Given the description of an element on the screen output the (x, y) to click on. 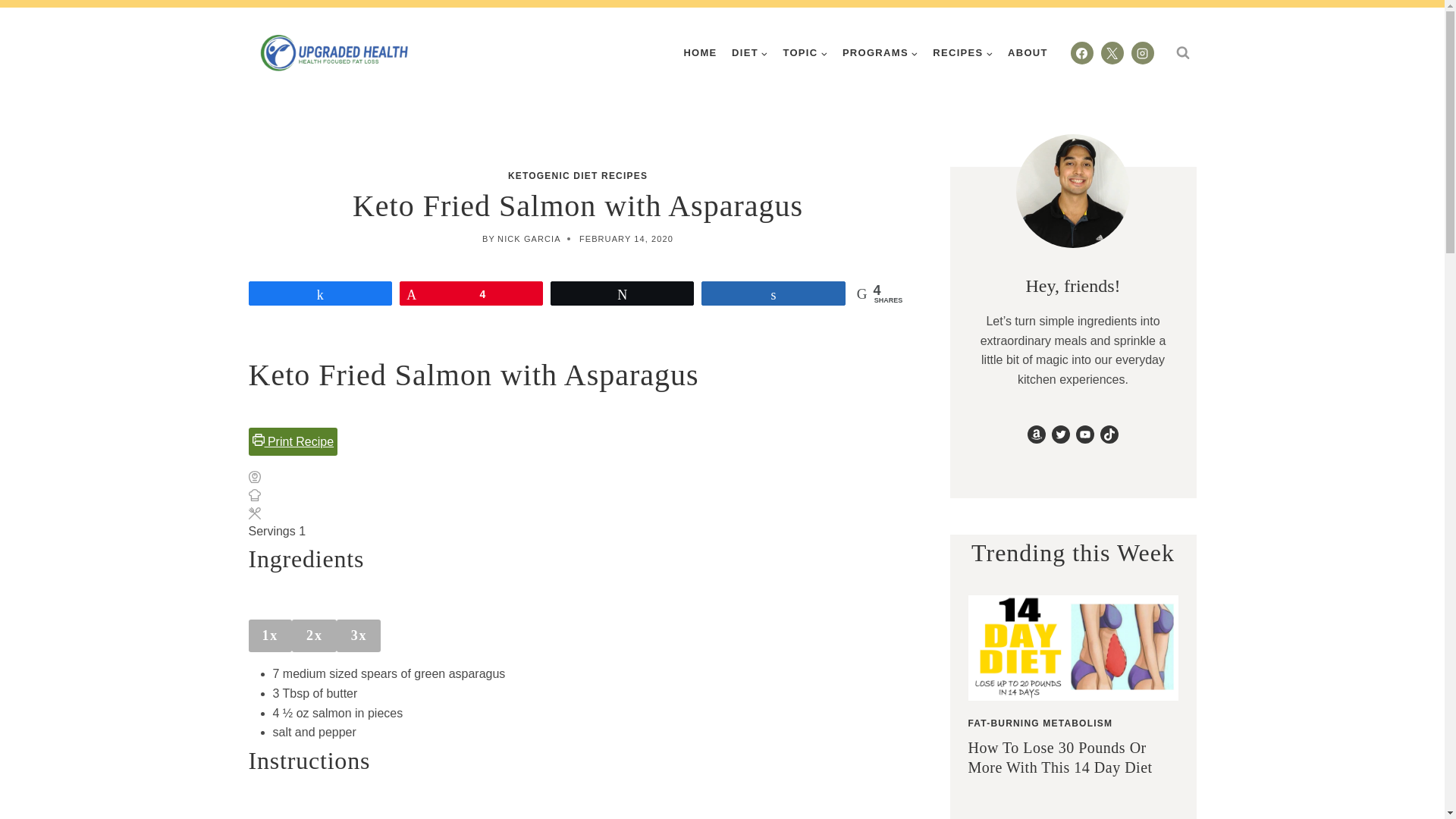
DIET (748, 51)
RECIPES (963, 51)
HOME (701, 51)
PROGRAMS (879, 51)
4 (470, 292)
ABOUT (1027, 51)
NICK GARCIA (528, 238)
KETOGENIC DIET RECIPES (577, 175)
TOPIC (805, 51)
